Given the description of an element on the screen output the (x, y) to click on. 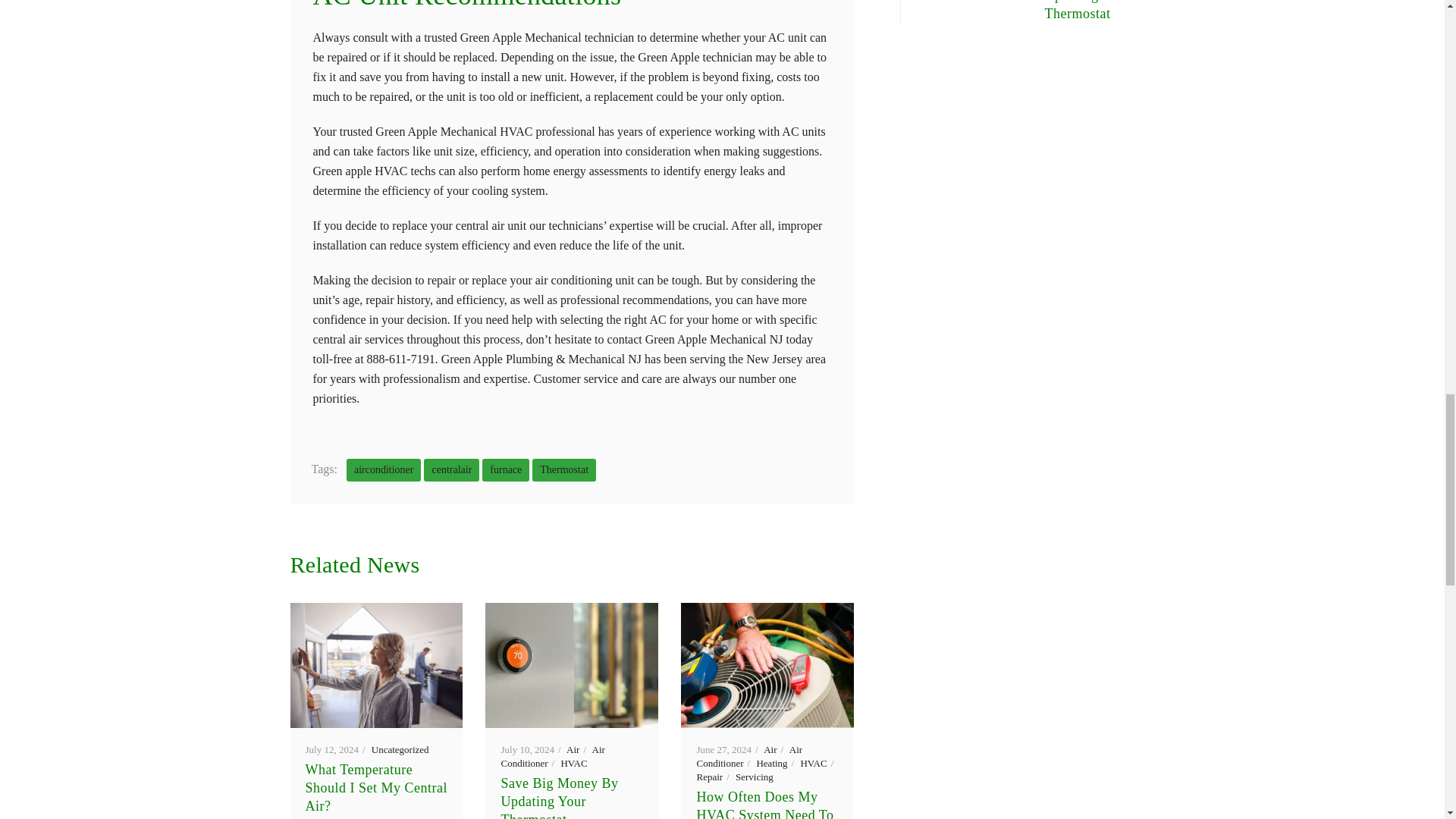
Save Big Money By Updating Your Thermostat (571, 665)
What Temperature Should I Set My Central Air? (376, 665)
centralair (451, 469)
furnace (505, 469)
Thermostat (563, 469)
How Often Does My HVAC System Need To Be Serviced? (767, 665)
airconditioner (384, 469)
Uncategorized (400, 749)
